Given the description of an element on the screen output the (x, y) to click on. 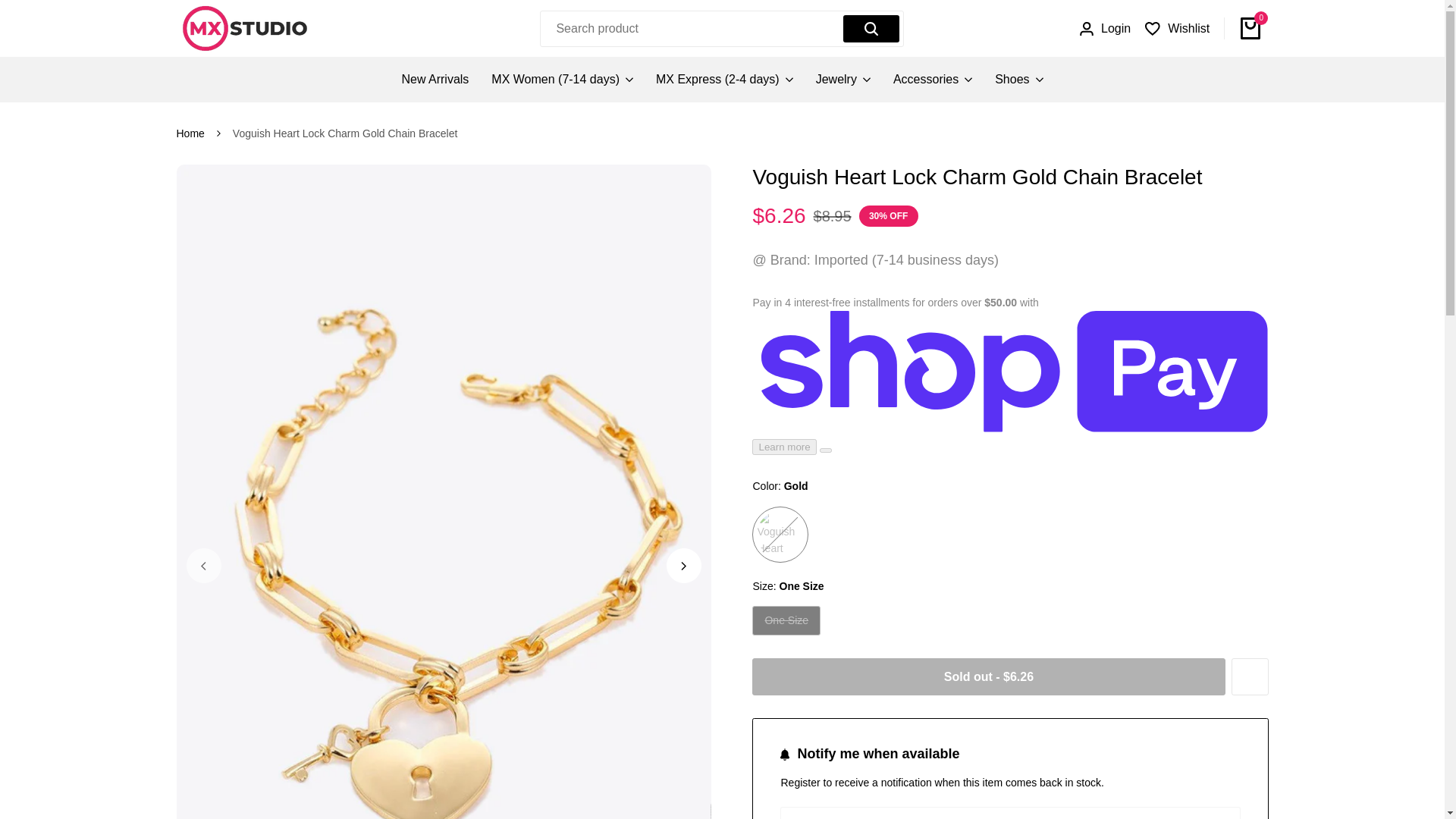
New Arrivals (434, 79)
Wishlist (1176, 28)
0 (1250, 28)
Login (1105, 28)
